Given the description of an element on the screen output the (x, y) to click on. 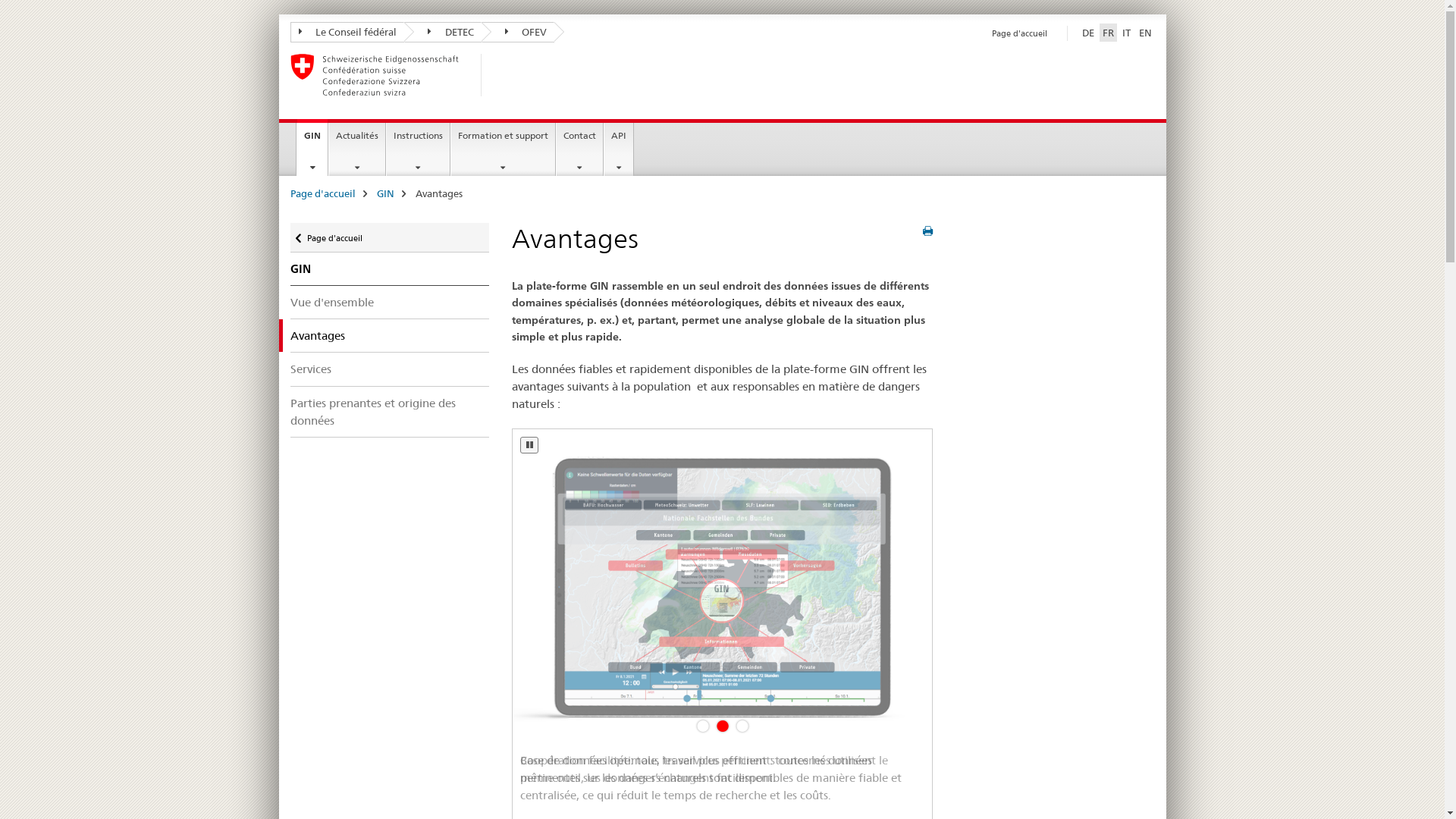
API Element type: text (618, 148)
IT Element type: text (1126, 32)
Imprimer cette page Element type: hover (927, 230)
DE Element type: text (1087, 32)
Page d'accueil Element type: text (321, 193)
EN Element type: text (1144, 32)
Retour
Page d'accueil Element type: text (389, 237)
GIN
current page Element type: text (312, 147)
Services Element type: text (389, 368)
GIN Element type: text (384, 193)
Instructions Element type: text (417, 148)
DETEC Element type: text (442, 31)
OFEV Element type: text (517, 31)
stop Element type: text (529, 444)
Page d'accueil Element type: hover (505, 74)
Contact Element type: text (579, 148)
Vue d'ensemble Element type: text (389, 301)
Page d'accueil Element type: text (1019, 33)
FR Element type: text (1108, 32)
GIN Element type: text (389, 268)
Formation et support Element type: text (503, 148)
